Given the description of an element on the screen output the (x, y) to click on. 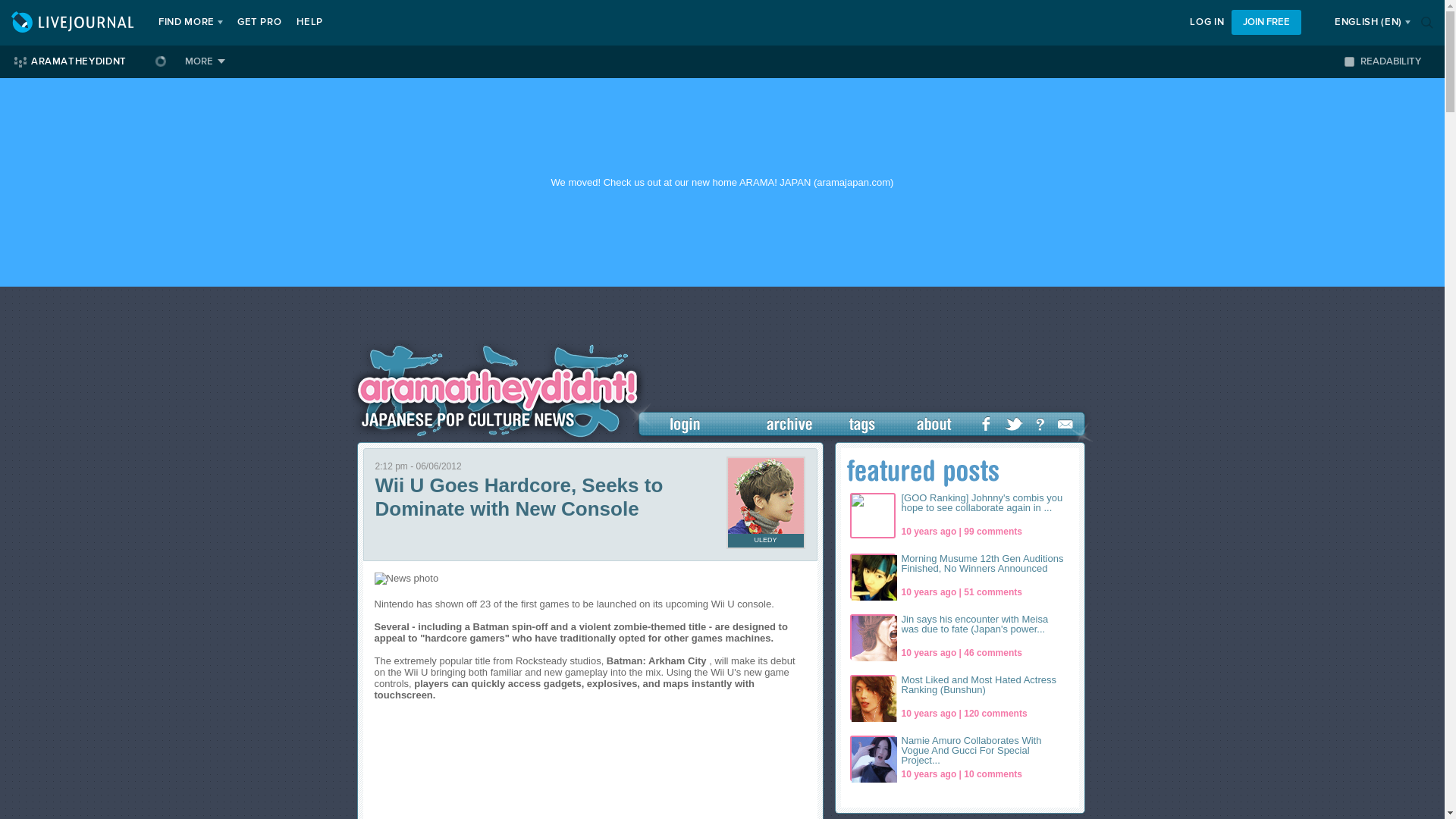
99 comments (992, 531)
120 comments (994, 713)
Tags (858, 423)
Arama They Didn't (498, 392)
10 comments (992, 774)
on (1348, 61)
About (934, 423)
ULEDY (765, 540)
51 comments (992, 592)
